Given the description of an element on the screen output the (x, y) to click on. 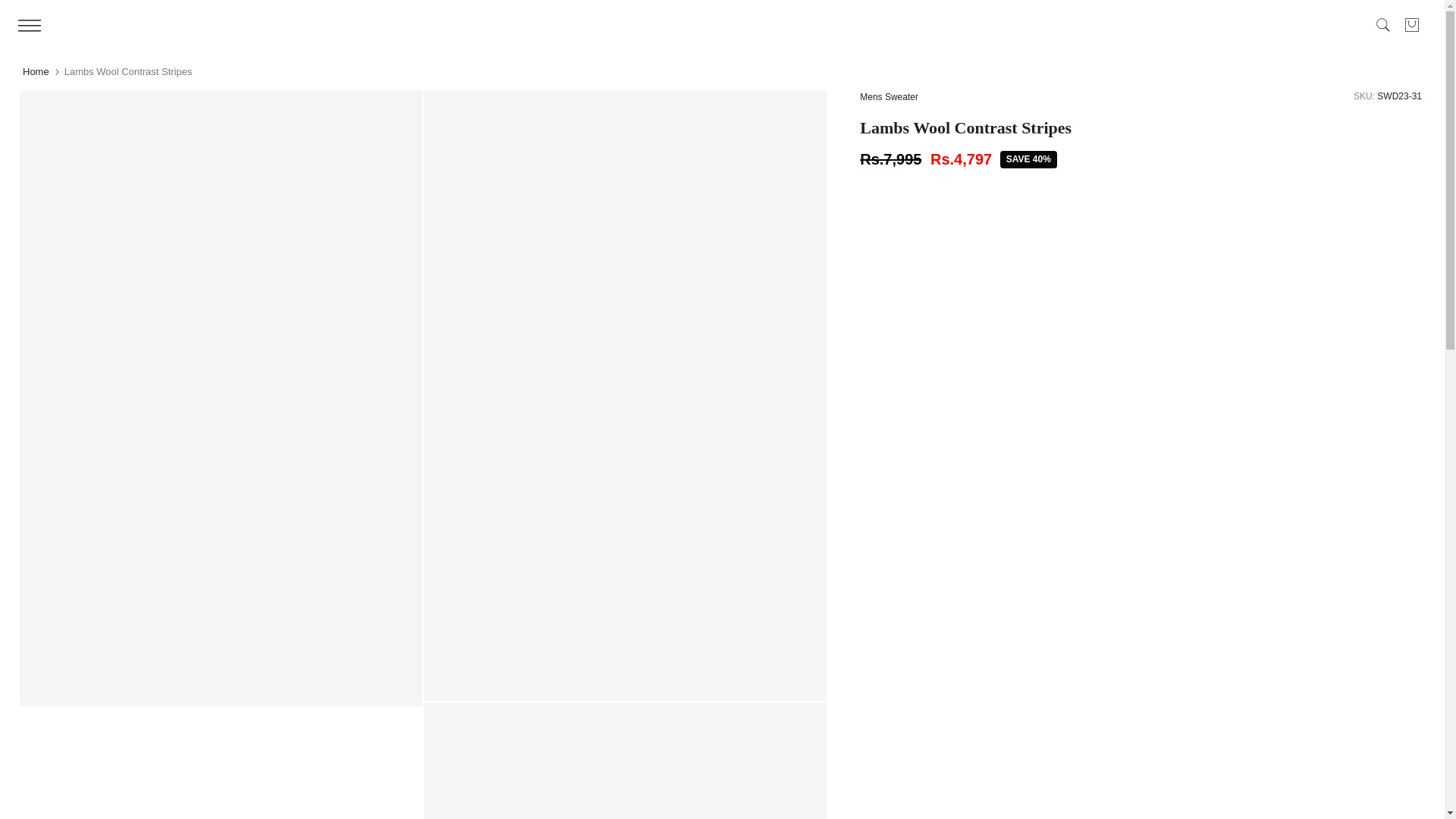
Mens Sweater (889, 96)
Home (36, 71)
Skip to content (10, 7)
